Given the description of an element on the screen output the (x, y) to click on. 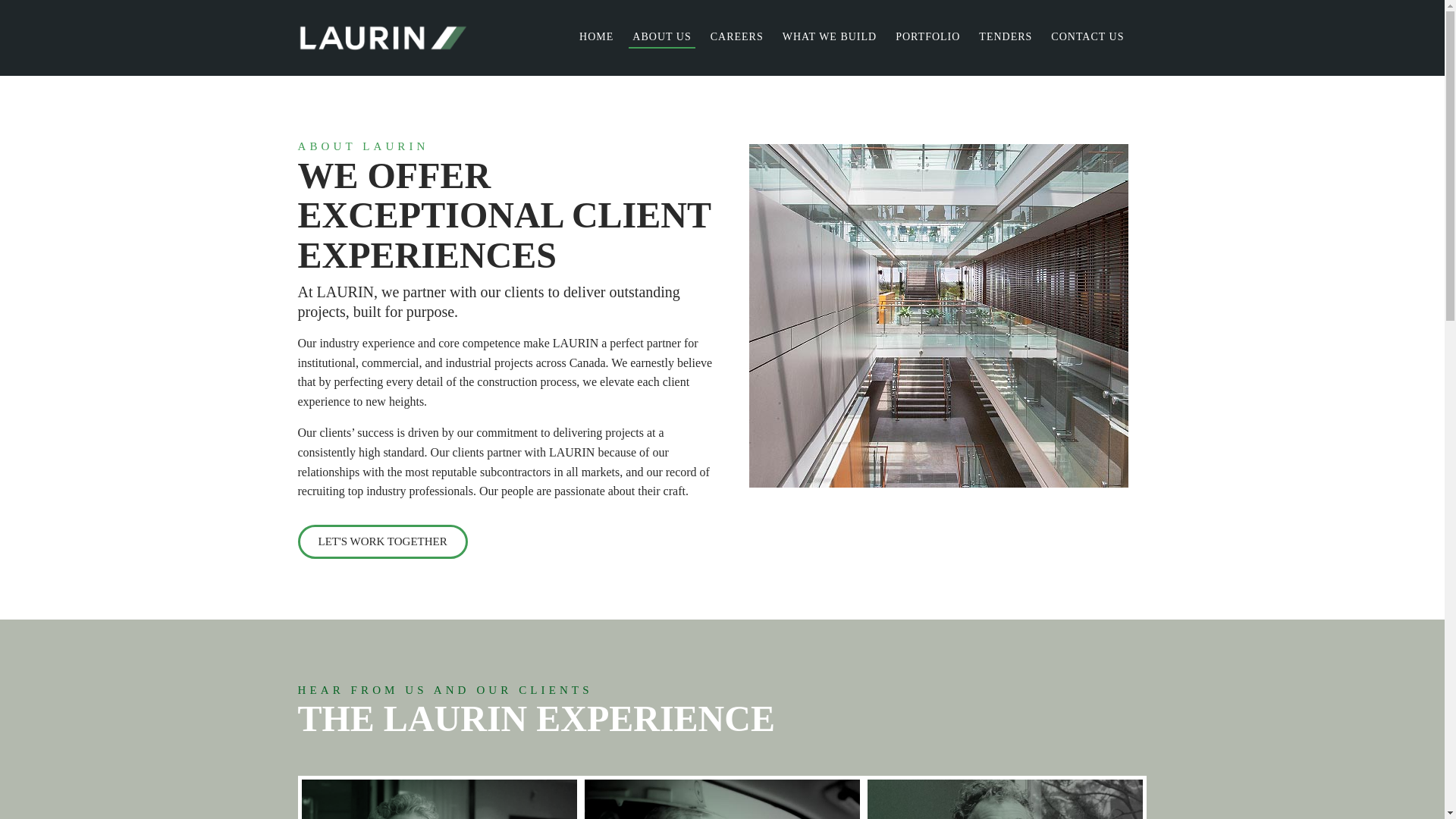
CONTACT US (1086, 37)
WHAT WE BUILD (829, 37)
PORTFOLIO (927, 37)
vimeo Video Player (1004, 799)
ABOUT US (661, 37)
LET'S WORK TOGETHER (382, 541)
CAREERS (736, 37)
TENDERS (1005, 37)
HOME (596, 37)
